Given the description of an element on the screen output the (x, y) to click on. 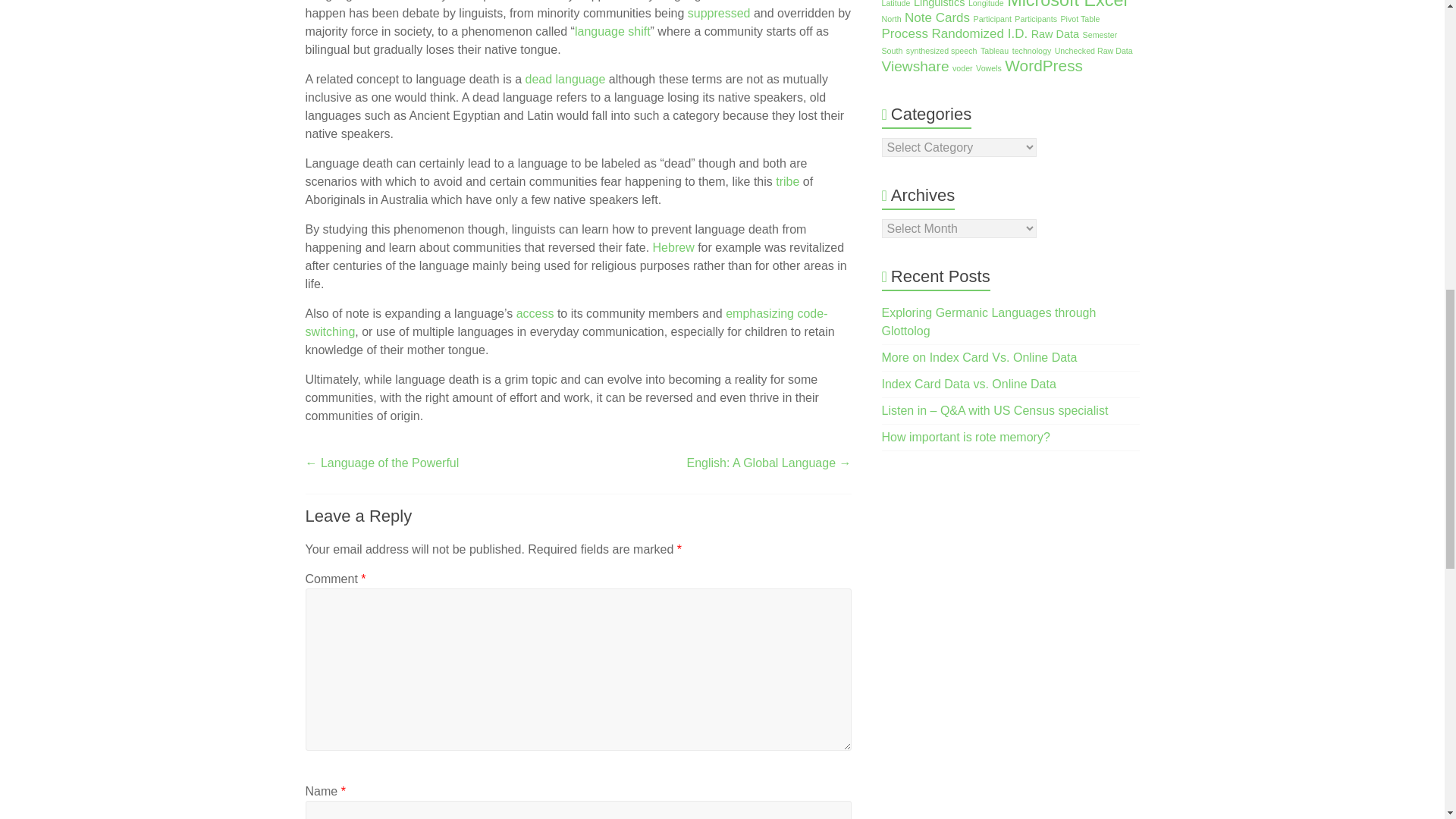
tribe (786, 181)
Hebrew (673, 246)
dead language (564, 78)
code-switching (565, 322)
suppressed (719, 12)
language shift (612, 31)
access (532, 313)
emphasizing (759, 313)
